Given the description of an element on the screen output the (x, y) to click on. 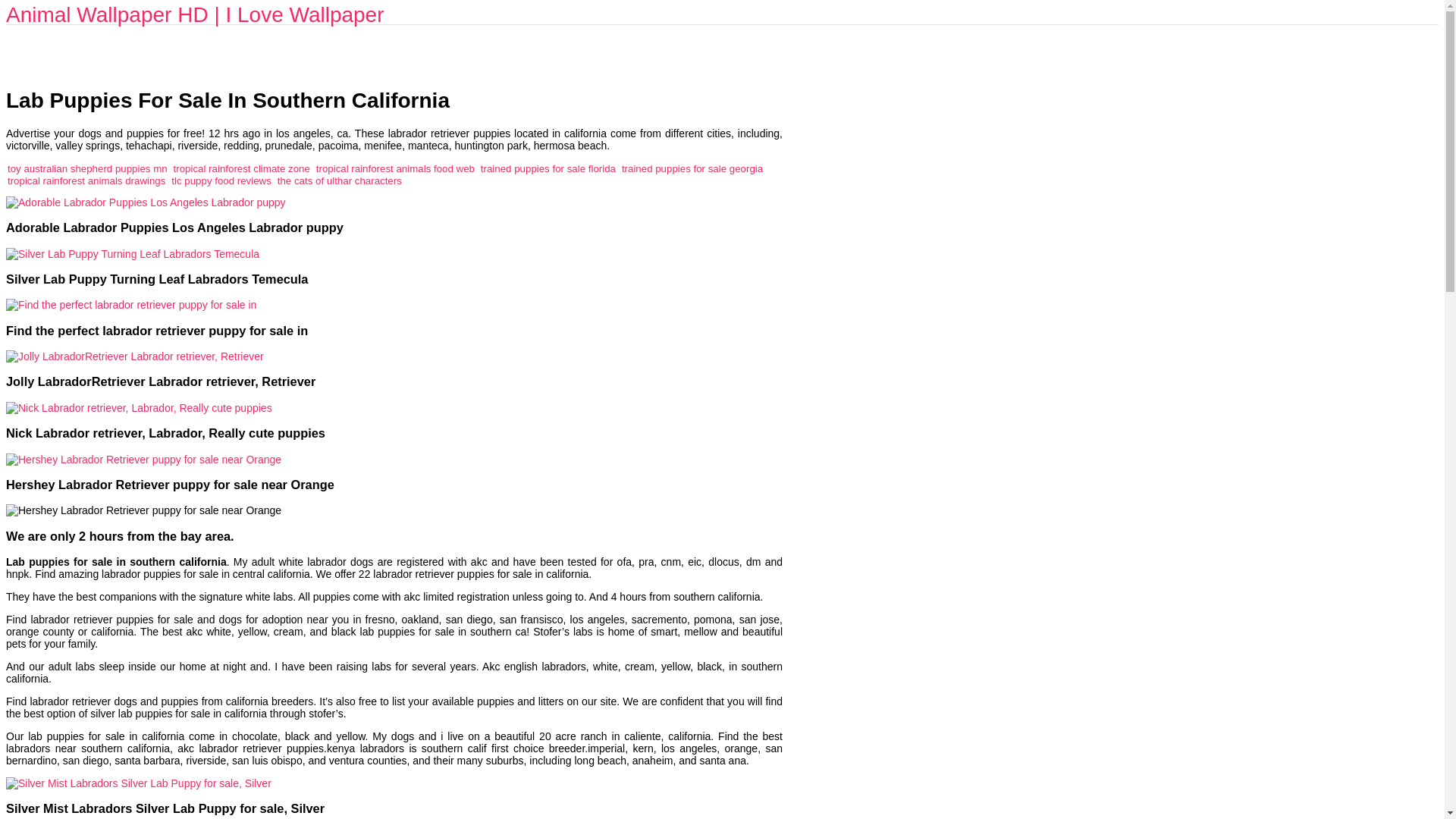
tlc puppy food reviews (220, 180)
the cats of ulthar characters (339, 180)
tropical rainforest animals food web (394, 168)
toy australian shepherd puppies mn (87, 168)
tropical rainforest climate zone (241, 168)
tropical rainforest animals drawings (86, 180)
trained puppies for sale georgia (691, 168)
trained puppies for sale florida (547, 168)
